Given the description of an element on the screen output the (x, y) to click on. 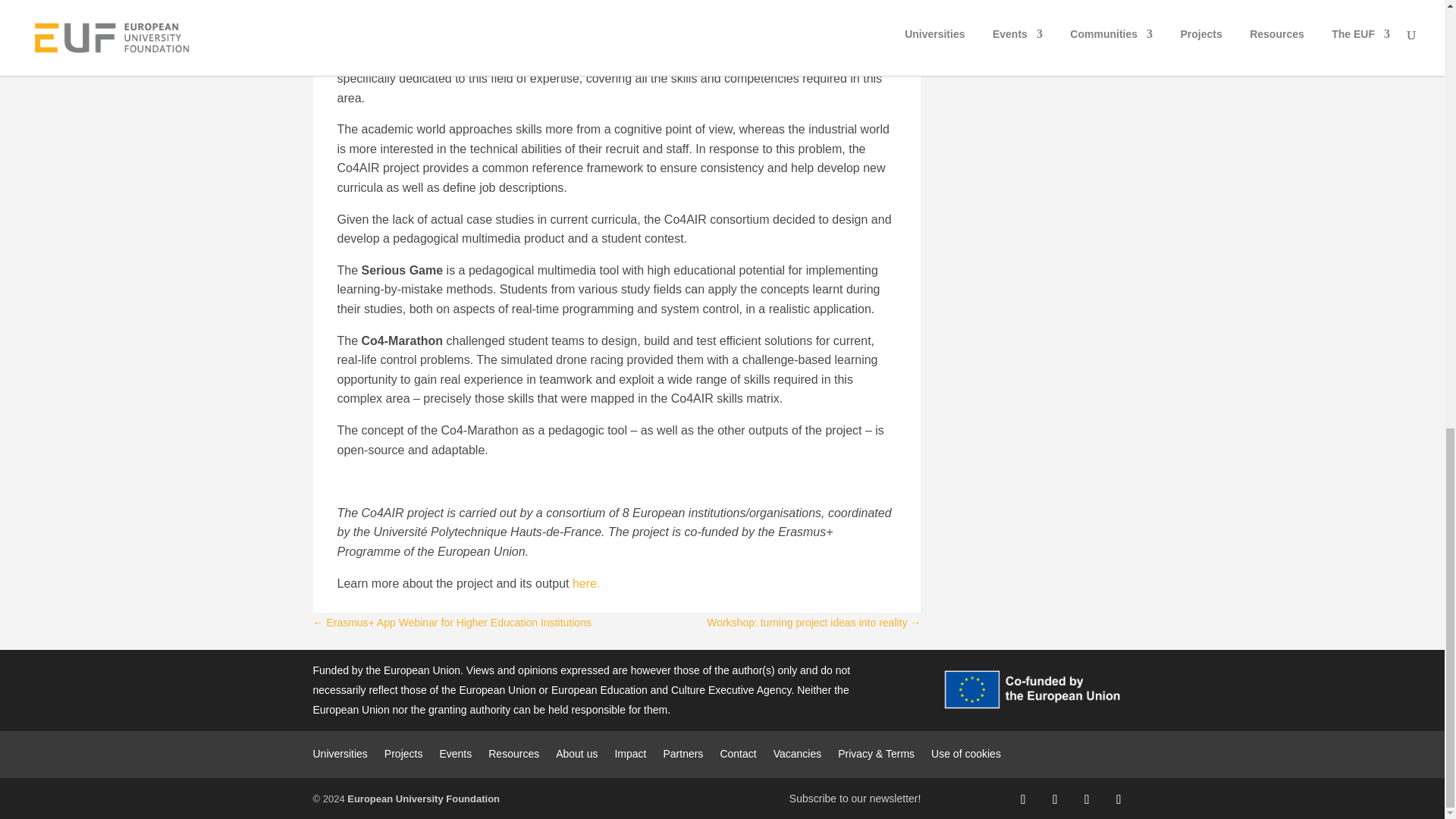
Follow on Facebook (1022, 800)
Follow on LinkedIn (1086, 800)
Follow on Youtube (1118, 800)
Follow on X (1054, 800)
